Given the description of an element on the screen output the (x, y) to click on. 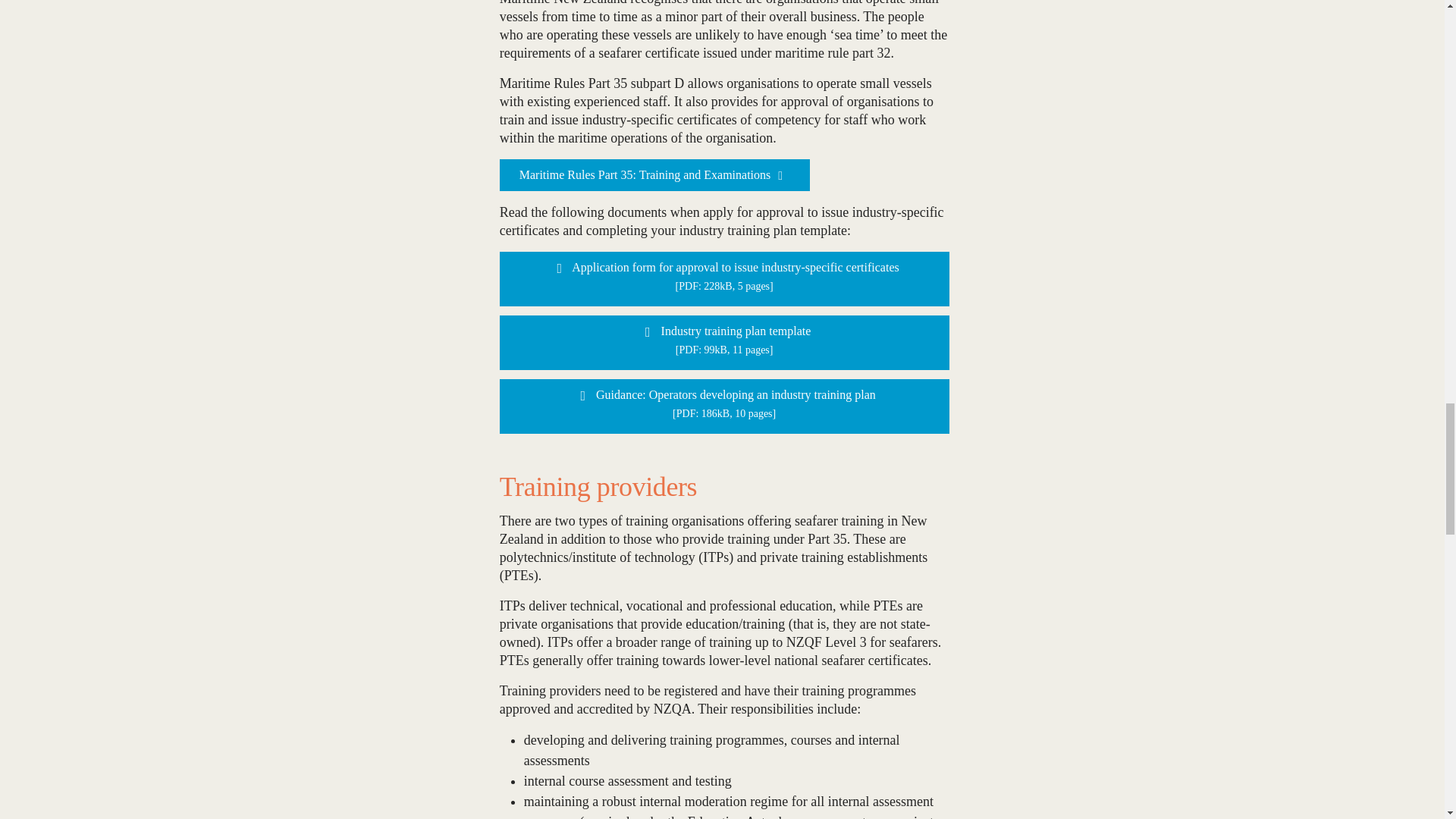
Maritime Rules Part 35 (654, 174)
